Given the description of an element on the screen output the (x, y) to click on. 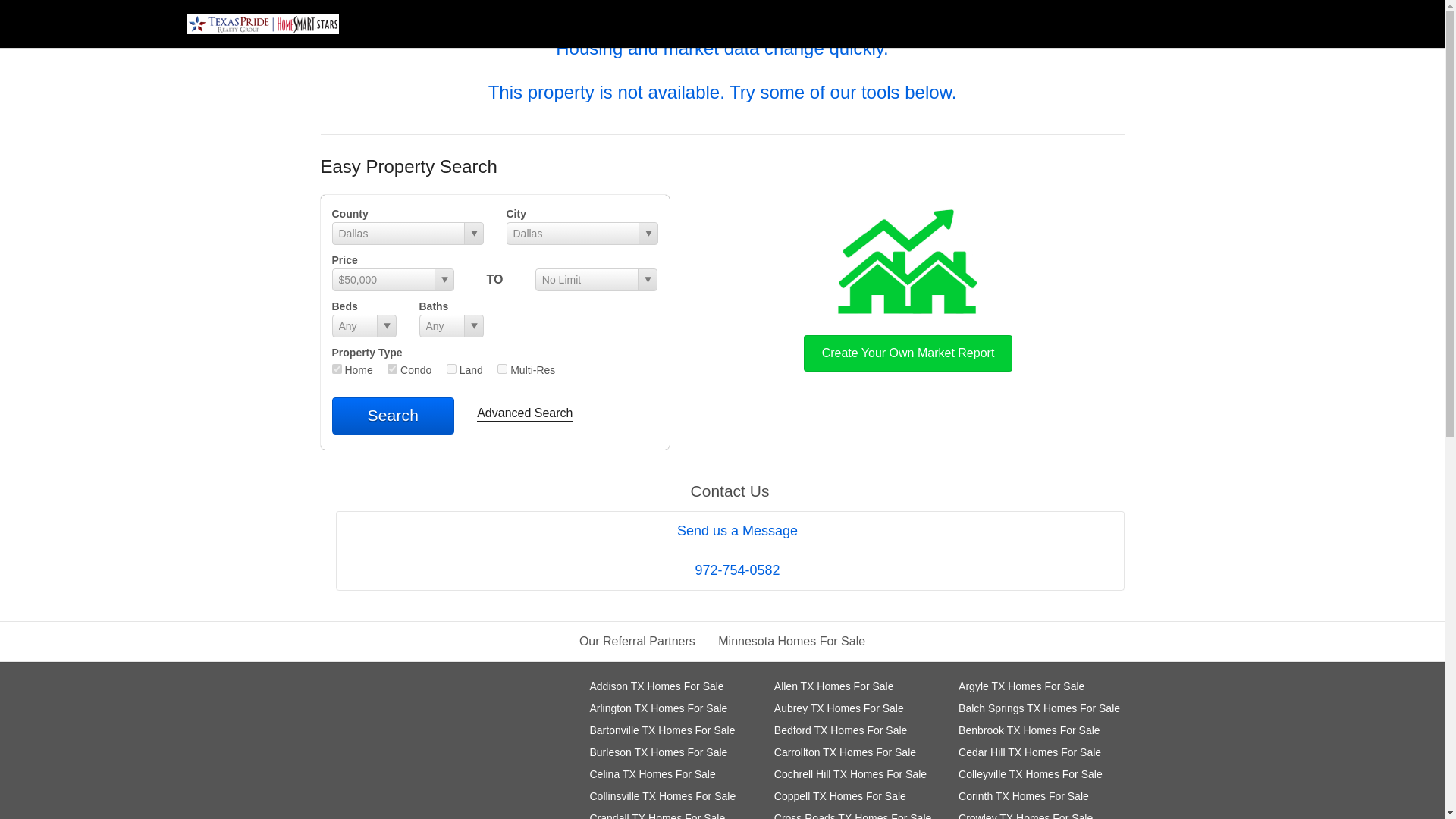
Carrollton TX Homes For Sale (844, 752)
Argyle TX Homes For Sale (1021, 686)
Our Referral Partners (637, 640)
972-754-0582 (729, 570)
Aubrey TX Homes For Sale (839, 707)
Minnesota Homes For Sale (790, 640)
Celina TX Homes For Sale (652, 774)
Bedford TX Homes For Sale (840, 729)
Search (392, 415)
Advanced Search (524, 414)
